Given the description of an element on the screen output the (x, y) to click on. 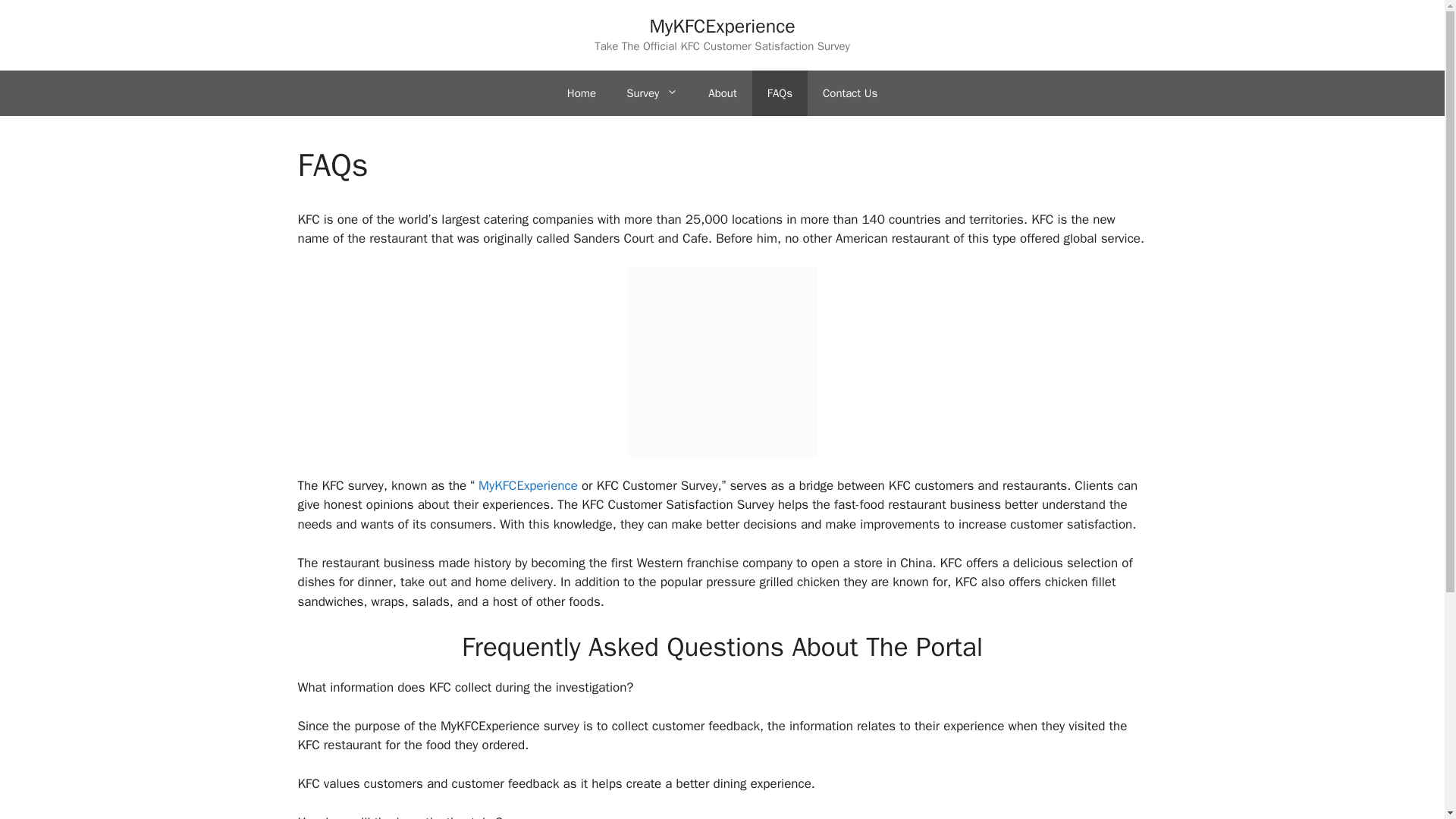
About (722, 92)
Home (581, 92)
Contact Us (850, 92)
MyKFCExperience (721, 25)
FAQs (780, 92)
Survey (652, 92)
MyKFCExperience (526, 485)
